Given the description of an element on the screen output the (x, y) to click on. 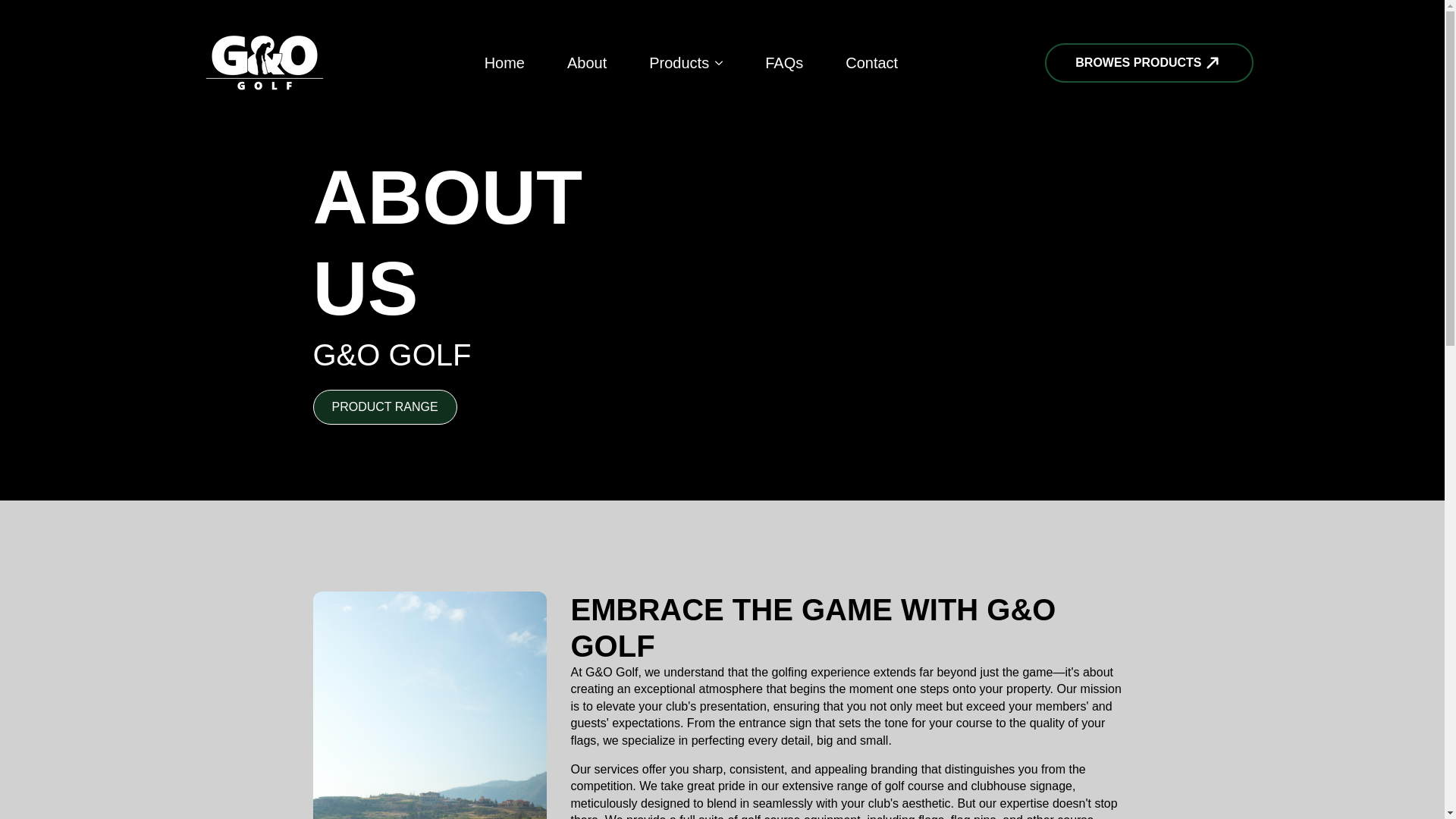
Contact (871, 62)
BROWES PRODUCTS (1148, 62)
PRODUCT RANGE (385, 407)
Products (673, 62)
FAQs (783, 62)
Home (504, 62)
About (586, 62)
